Given the description of an element on the screen output the (x, y) to click on. 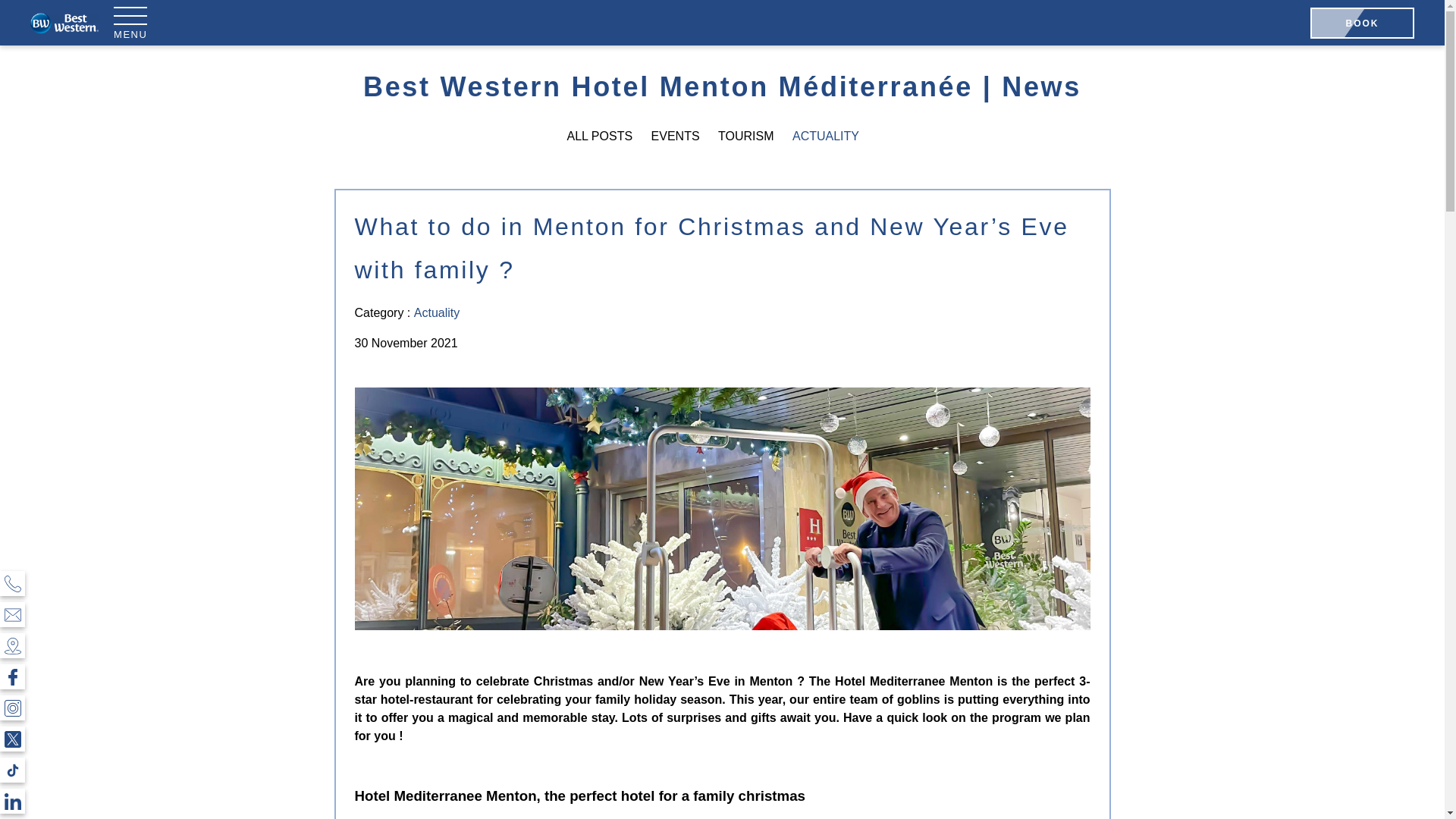
EVENTS (675, 135)
Actuality (436, 312)
TOURISM (745, 135)
ALL POSTS (600, 135)
BOOK (1361, 22)
MENU (130, 21)
ACTUALITY (825, 135)
